Given the description of an element on the screen output the (x, y) to click on. 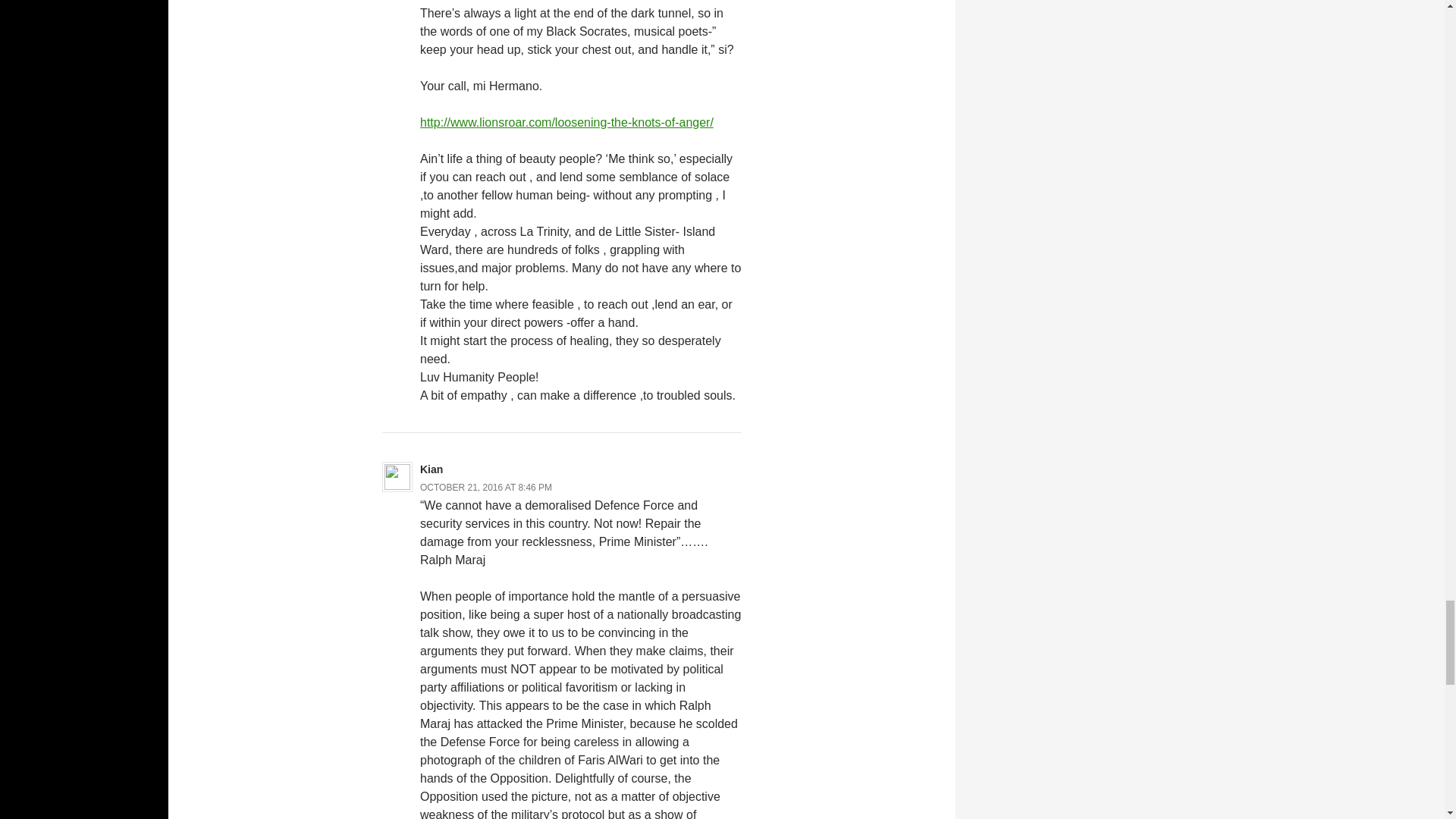
OCTOBER 21, 2016 AT 8:46 PM (485, 487)
